Given the description of an element on the screen output the (x, y) to click on. 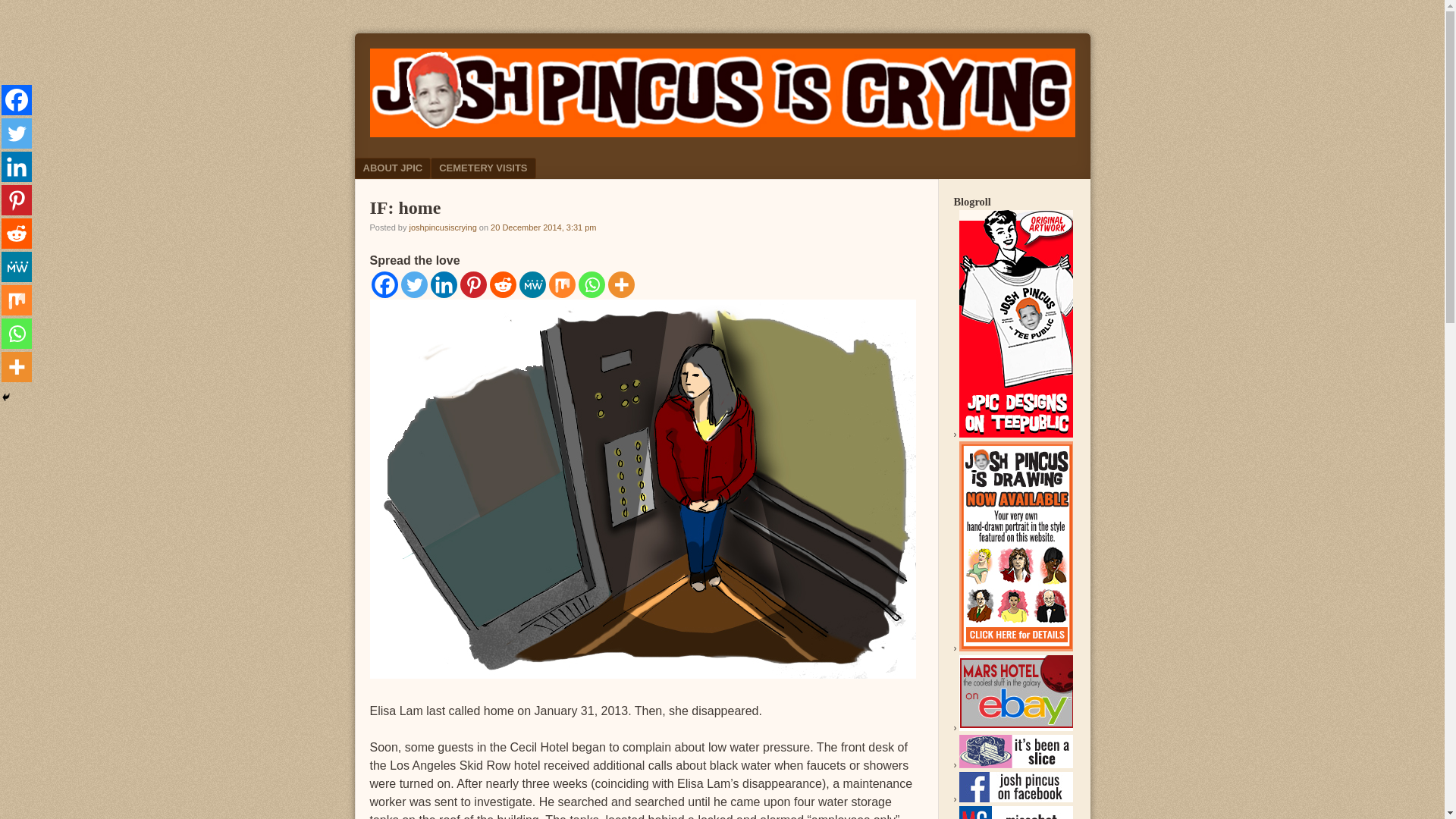
Whatsapp (591, 284)
josh pincus is crying (722, 132)
Twitter (413, 284)
Reddit (502, 284)
Linkedin (443, 284)
Skip to content (408, 168)
MeWe (531, 284)
View all posts by joshpincusiscrying (442, 226)
SKIP TO CONTENT (408, 168)
CEMETERY VISITS (482, 168)
Pinterest (473, 284)
ABOUT JPIC (392, 168)
Mix (561, 284)
Facebook (384, 284)
